Given the description of an element on the screen output the (x, y) to click on. 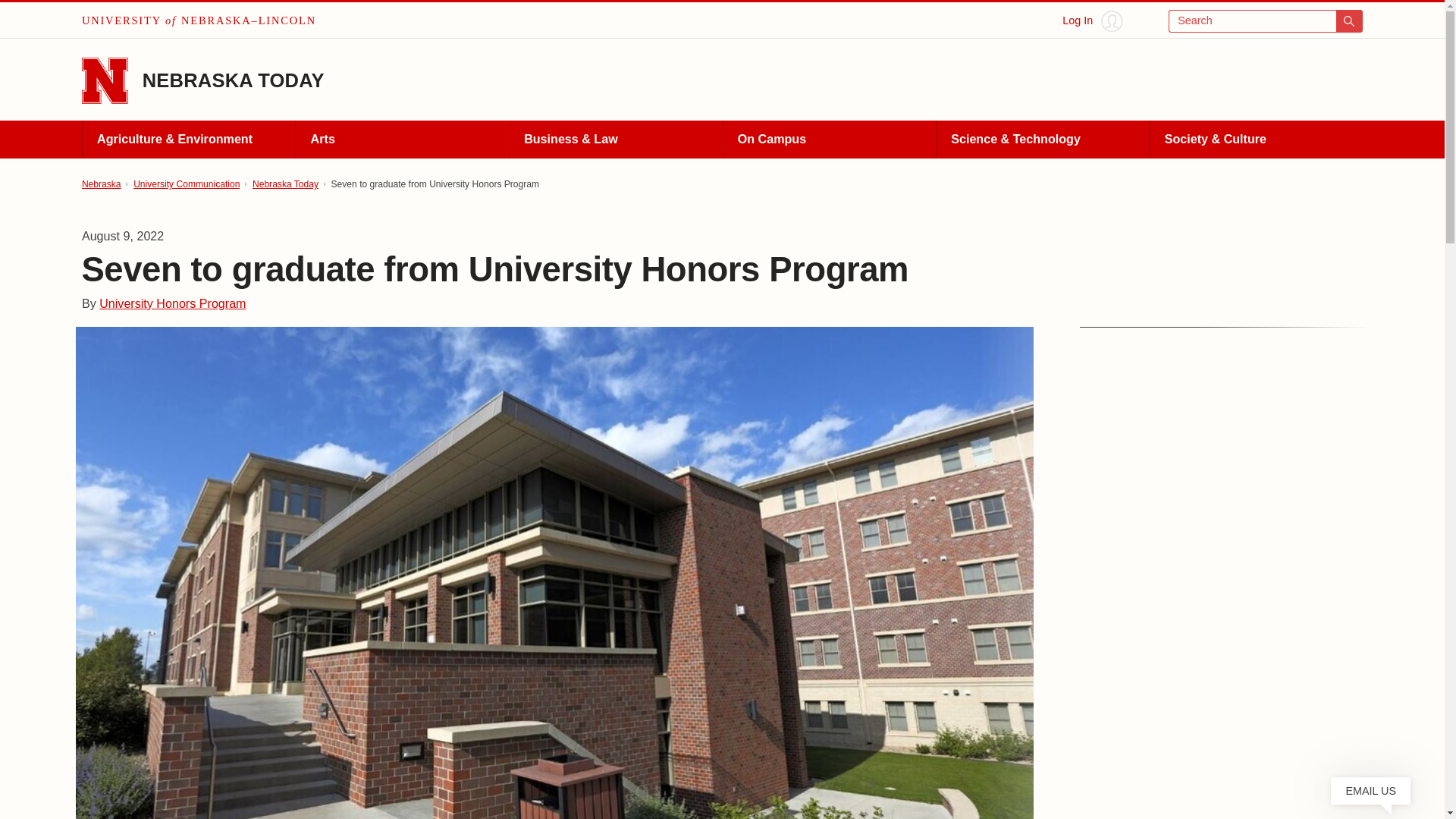
Skip to main content (19, 16)
NEBRASKA TODAY (233, 79)
Log In (1092, 21)
University Communication (186, 183)
On Campus (829, 139)
Search (1265, 21)
University Honors Program (172, 303)
Nebraska Today (284, 183)
Arts (401, 139)
Nebraska (100, 183)
